Given the description of an element on the screen output the (x, y) to click on. 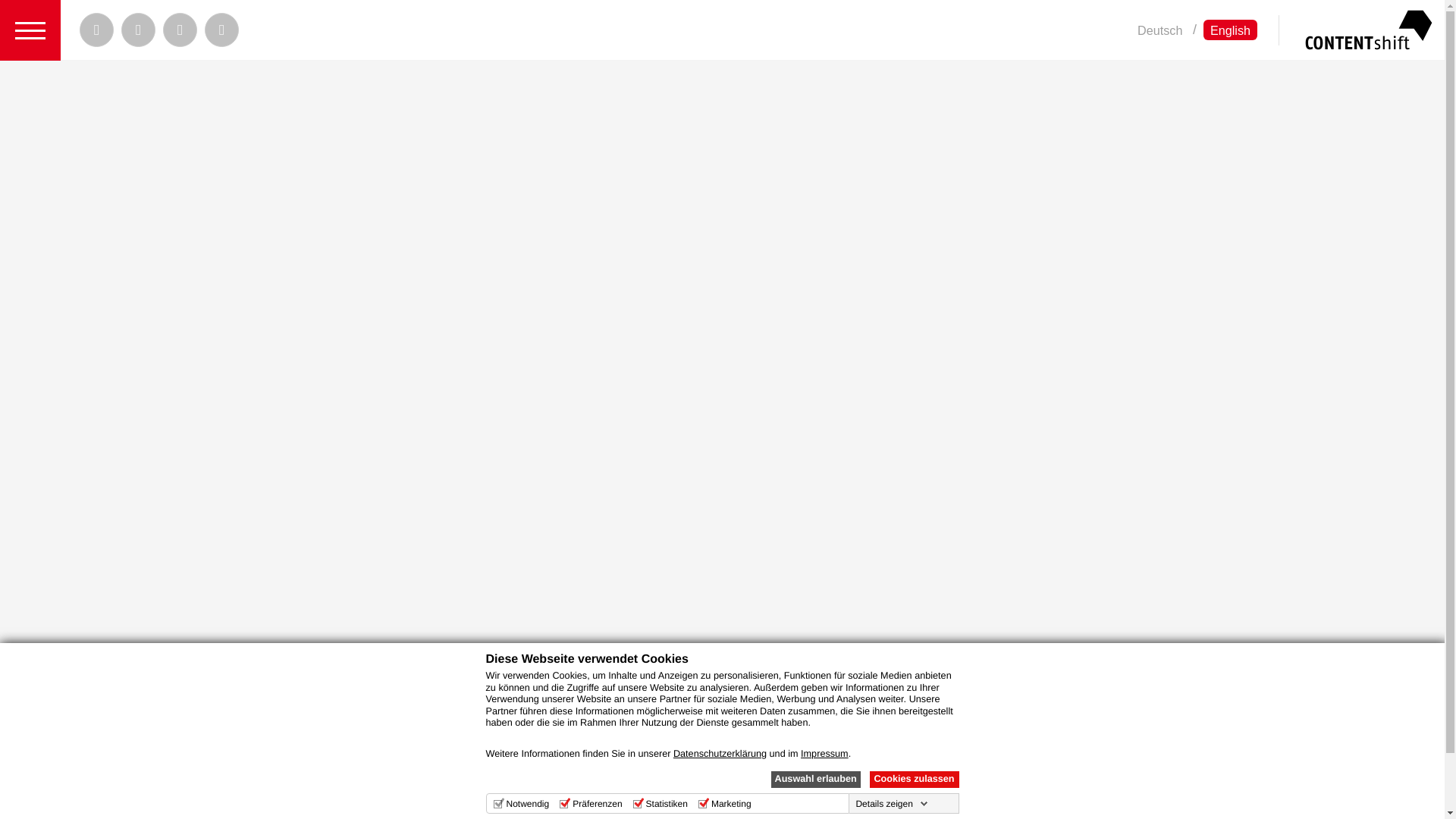
Details zeigen (890, 803)
Cookies zulassen (913, 779)
Auswahl erlauben (815, 779)
Impressum (824, 753)
